Given the description of an element on the screen output the (x, y) to click on. 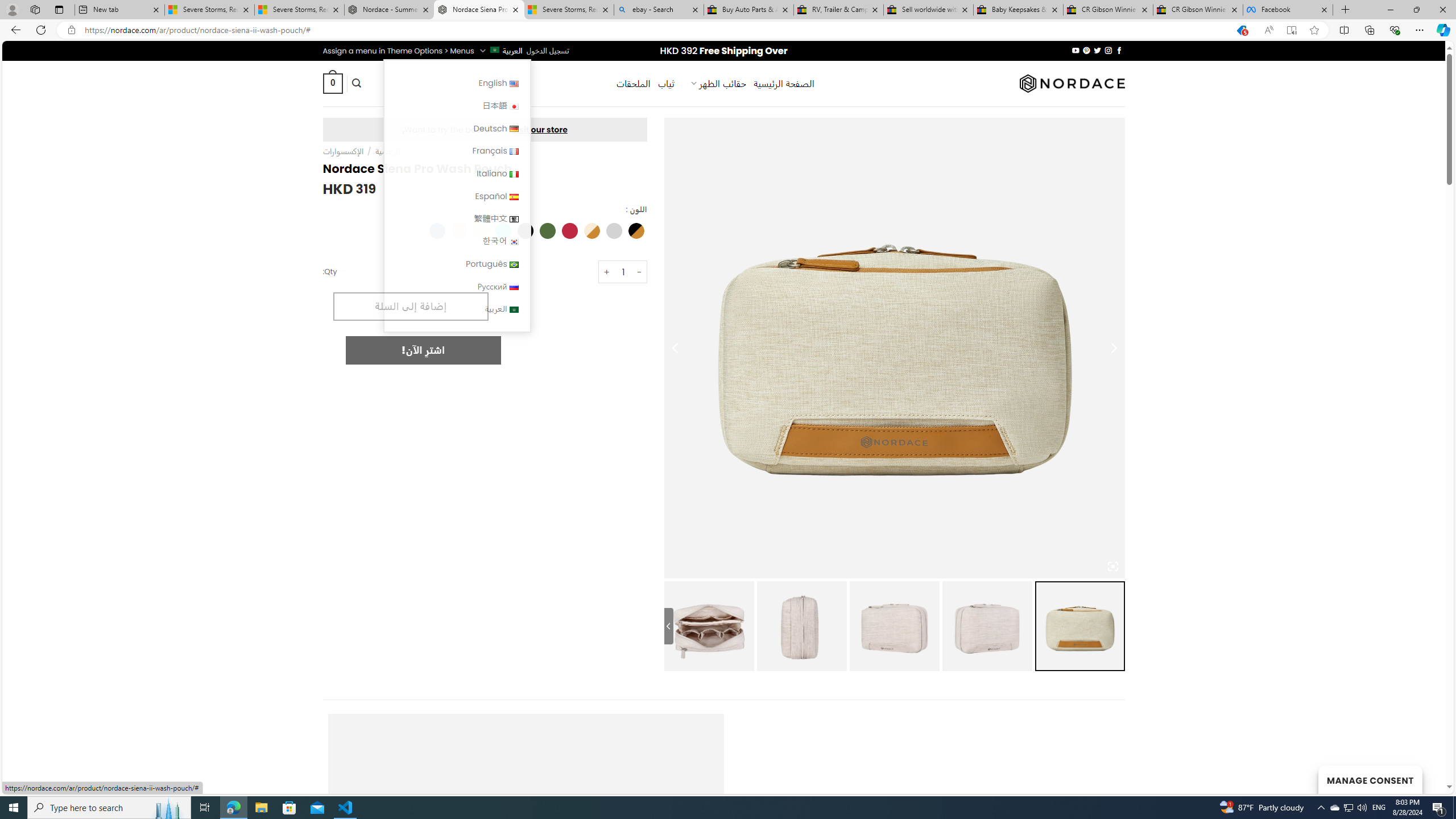
- (639, 272)
Workspaces (34, 9)
New tab (118, 9)
Minimize (1390, 9)
Nordace (1072, 83)
Close tab (1324, 9)
Copilot (Ctrl+Shift+.) (1442, 29)
App bar (728, 29)
